Given the description of an element on the screen output the (x, y) to click on. 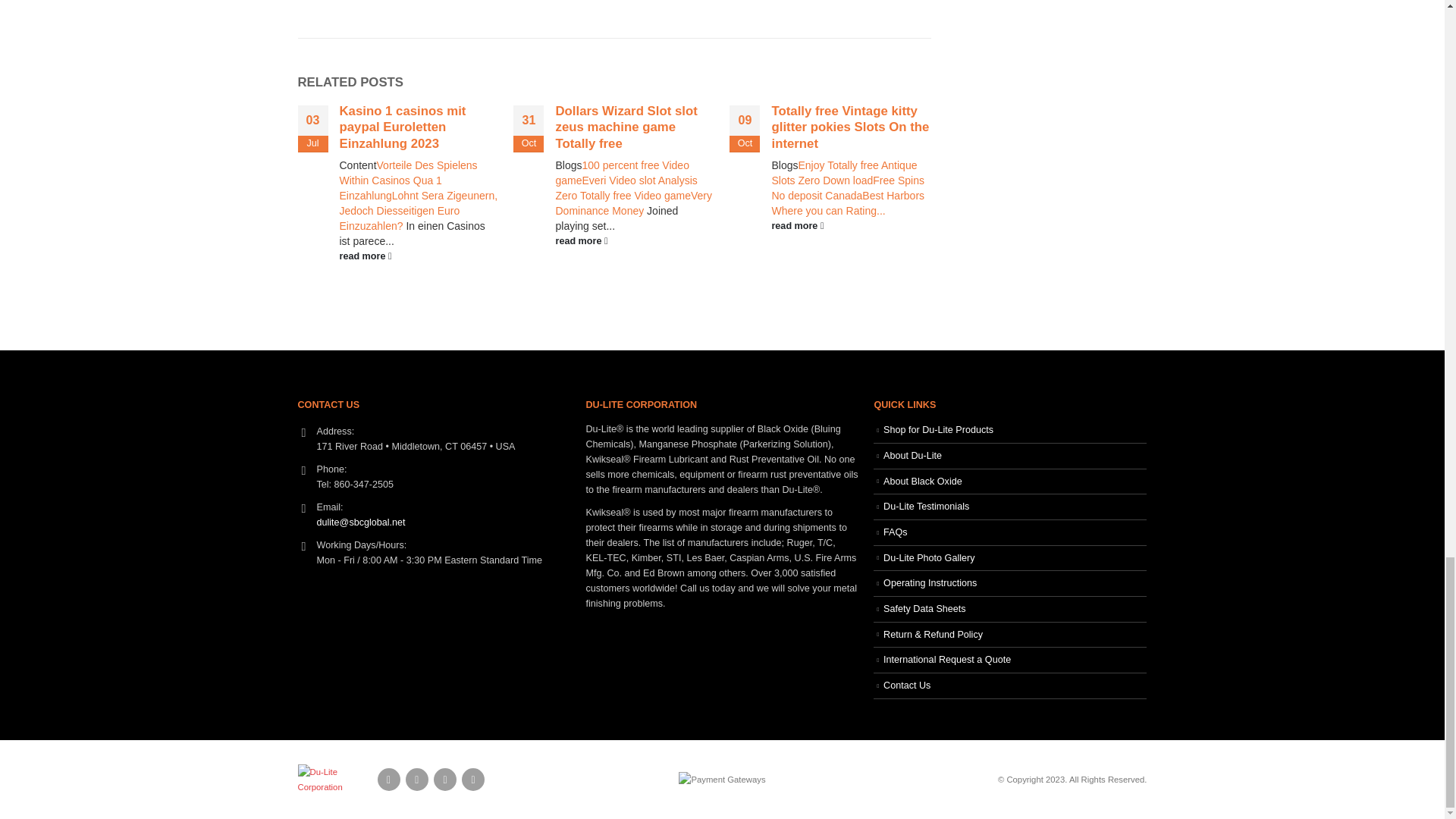
Facebook (388, 779)
Twitter (417, 779)
